Given the description of an element on the screen output the (x, y) to click on. 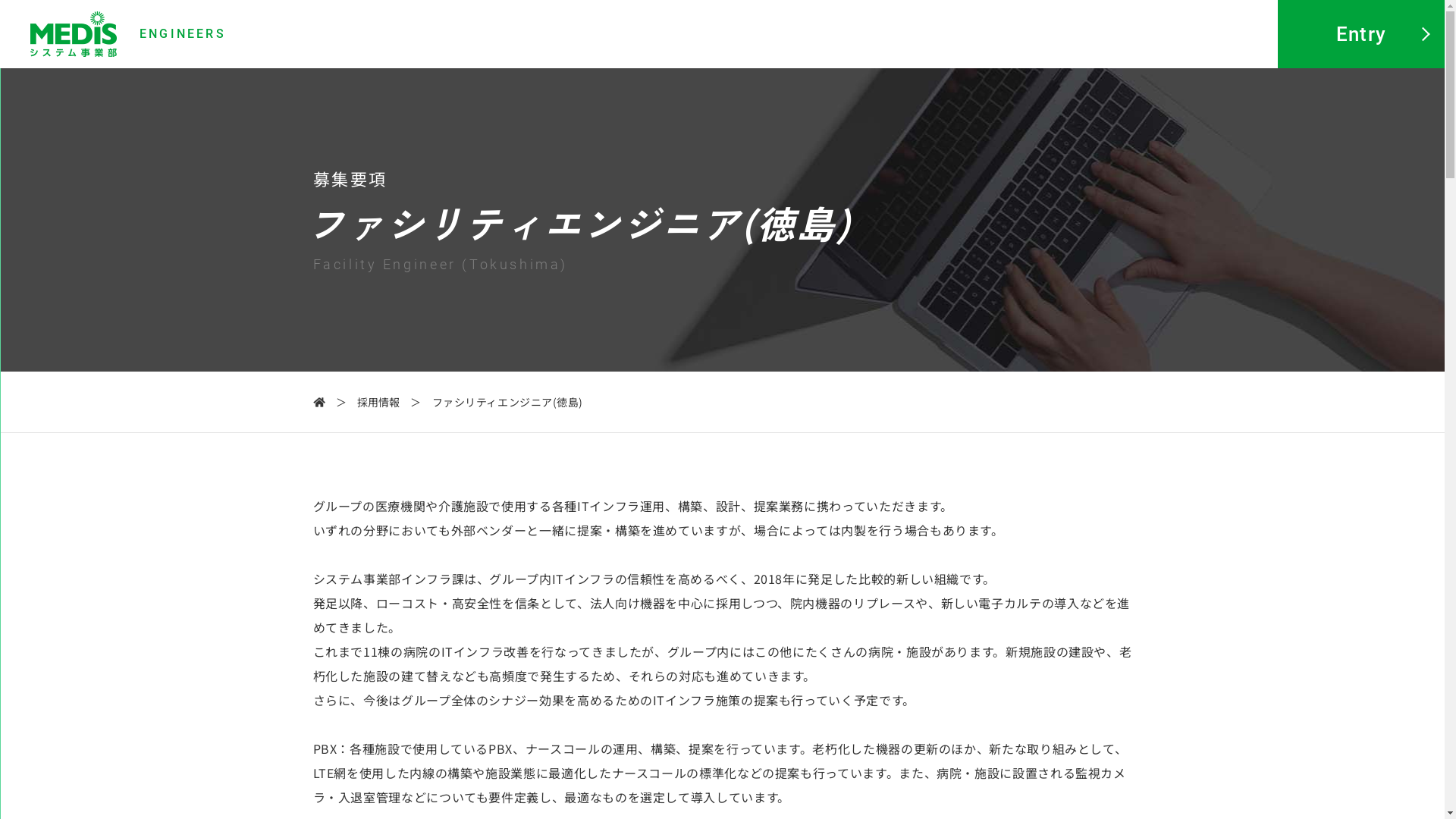
ENGINEERS Element type: text (127, 33)
Entry Element type: text (1360, 34)
